Given the description of an element on the screen output the (x, y) to click on. 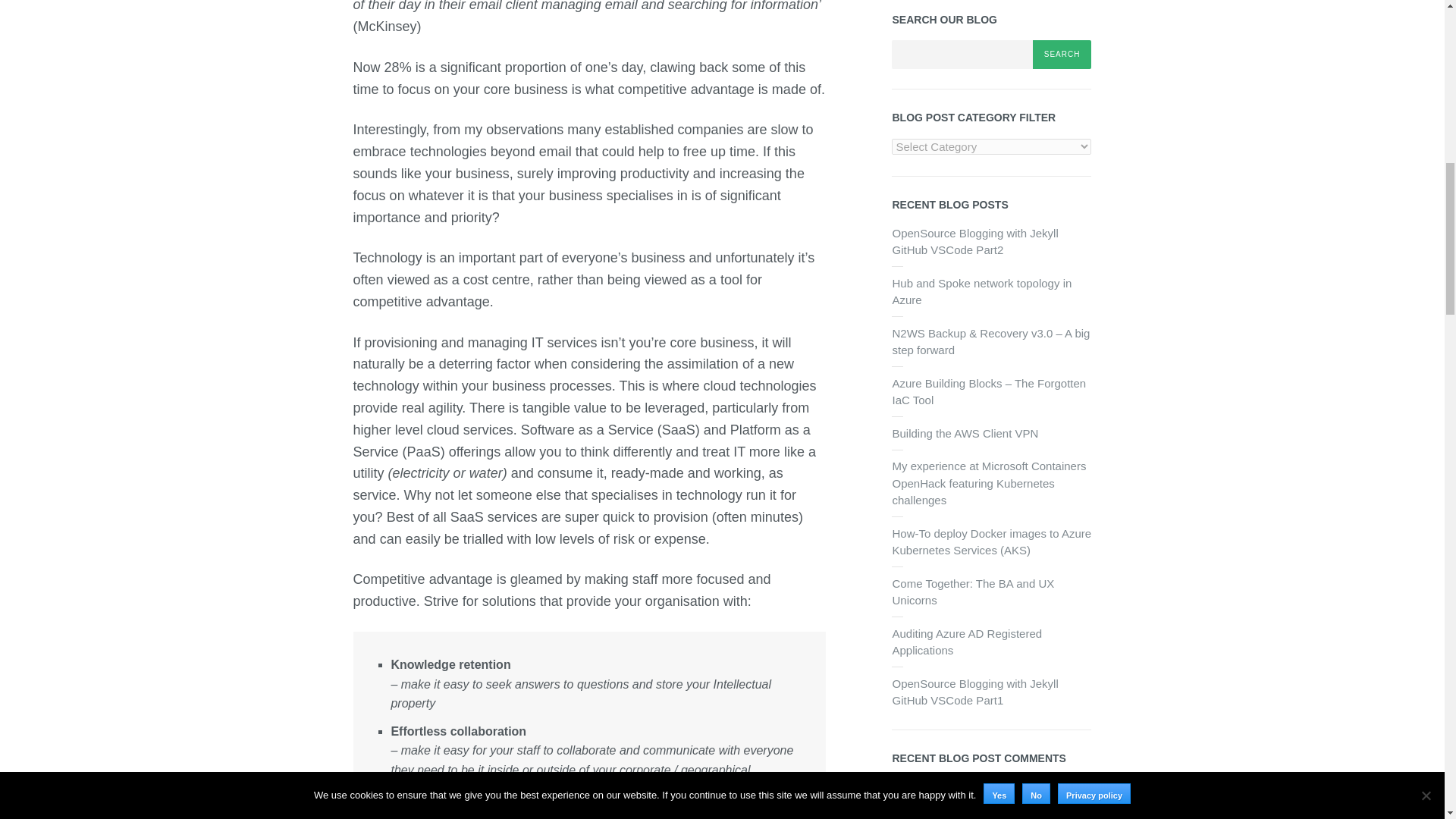
Search (1062, 54)
OpenSource Blogging with Jekyll GitHub VSCode Part1 (974, 692)
Building the AWS Client VPN (964, 432)
Auditing Azure AD Registered Applications (966, 642)
robotsblogcom (928, 786)
Come Together: The BA and UX Unicorns (972, 592)
Hub and Spoke network topology in Azure (981, 291)
Search (1062, 54)
OpenSource Blogging with Jekyll GitHub VSCode Part2 (974, 241)
